Given the description of an element on the screen output the (x, y) to click on. 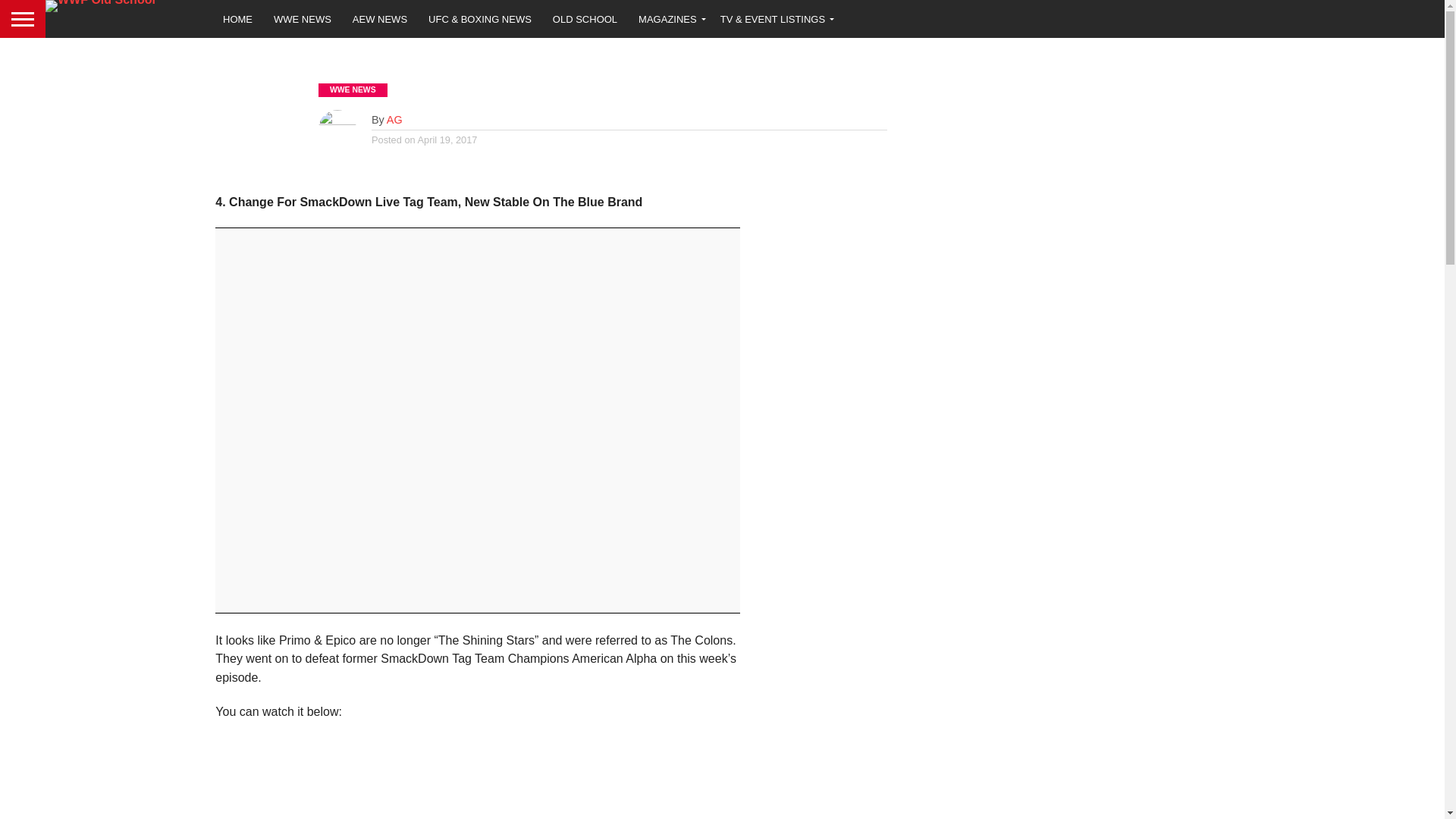
OLD SCHOOL (584, 18)
AEW NEWS (379, 18)
MAGAZINES (668, 18)
HOME (237, 18)
Posts by AG (395, 119)
WWE NEWS (302, 18)
